Given the description of an element on the screen output the (x, y) to click on. 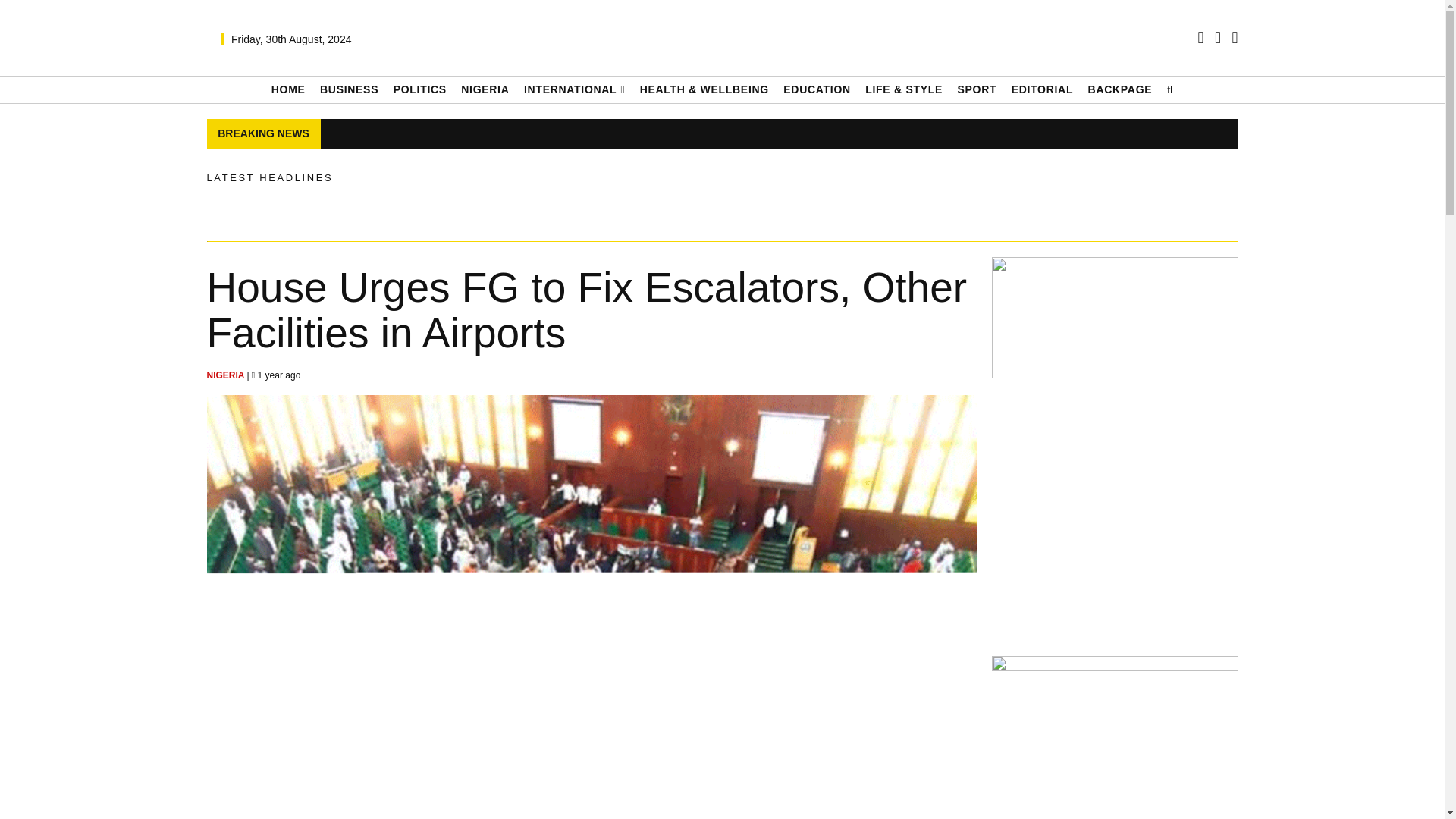
HOME (287, 89)
BUSINESS (349, 89)
POLITICS (419, 89)
EDITORIAL (1042, 89)
EDUCATION (816, 89)
SPORT (975, 89)
NIGERIA (226, 375)
INTERNATIONAL (574, 89)
BACKPAGE (1120, 89)
